Given the description of an element on the screen output the (x, y) to click on. 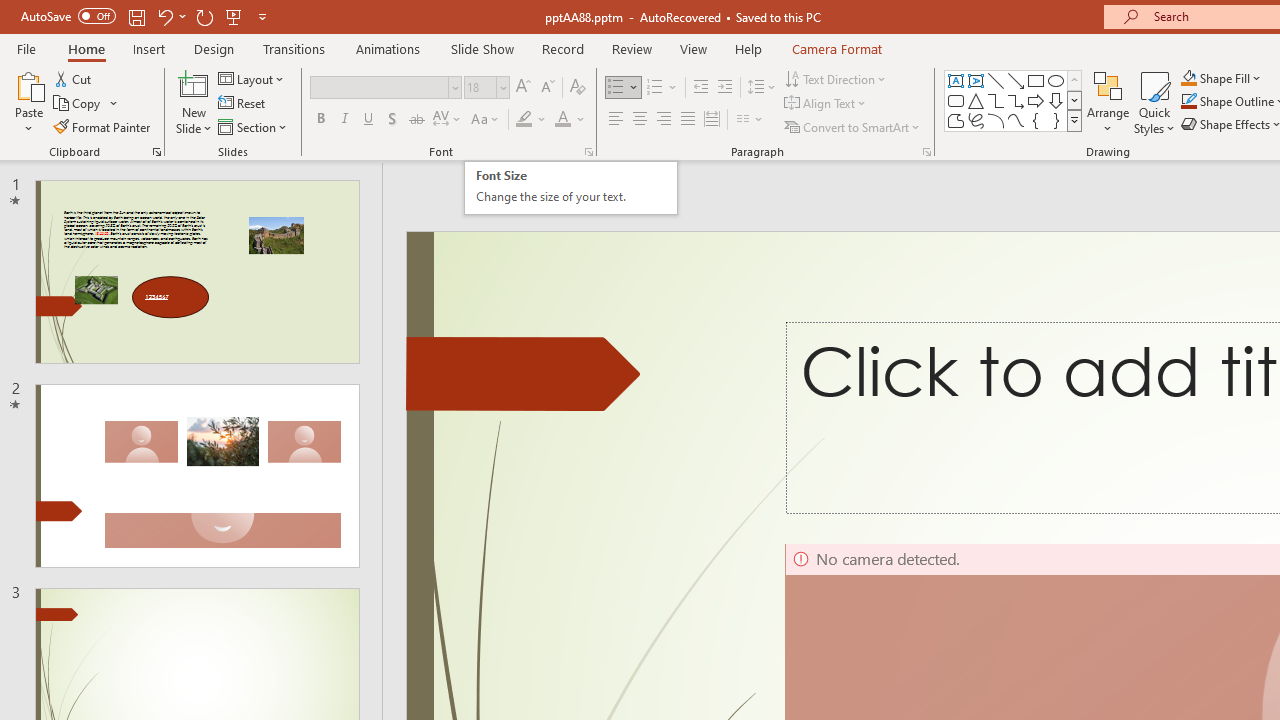
Camera Format (836, 48)
